Given the description of an element on the screen output the (x, y) to click on. 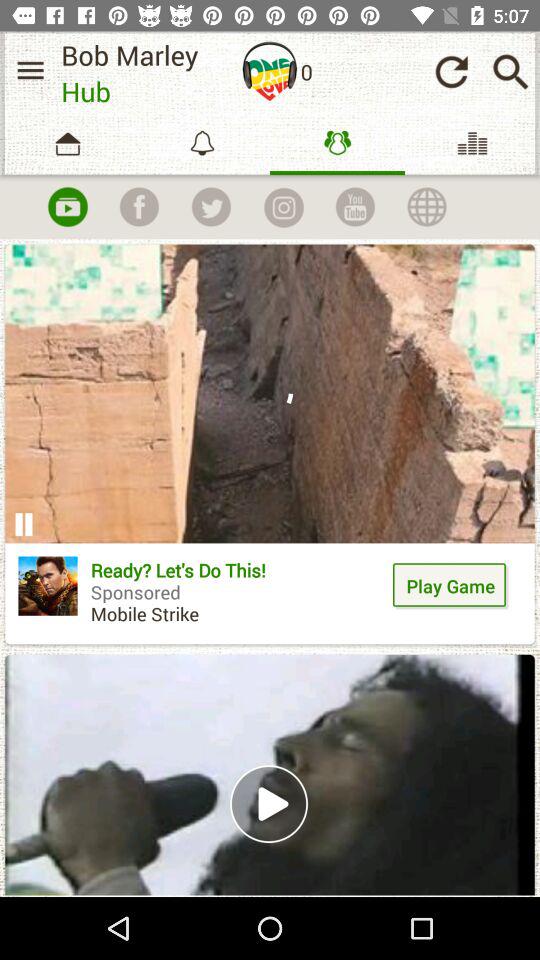
world wide web (427, 207)
